Given the description of an element on the screen output the (x, y) to click on. 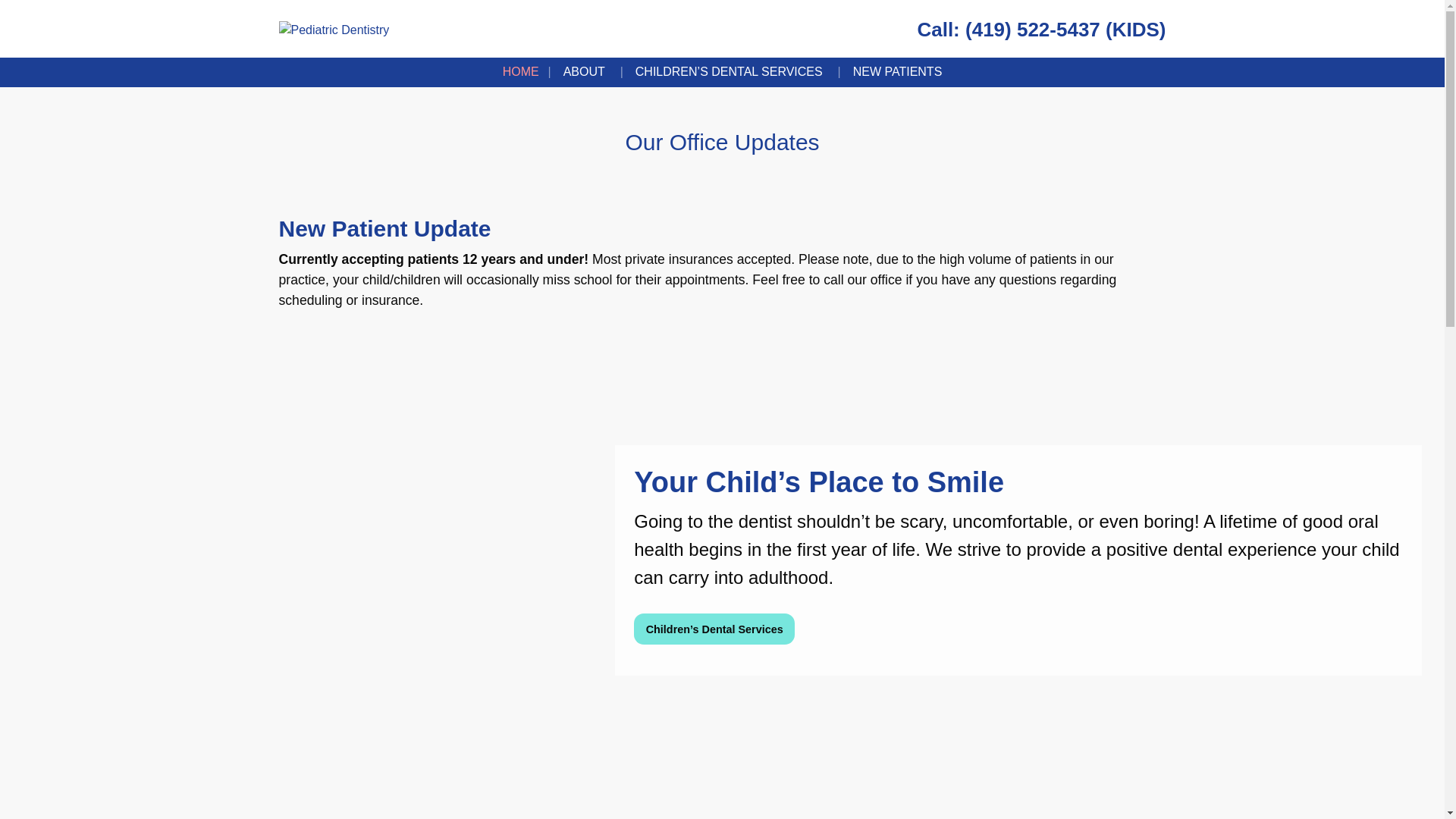
HOME (520, 71)
NEW PATIENTS (898, 71)
ABOUT (587, 71)
